Given the description of an element on the screen output the (x, y) to click on. 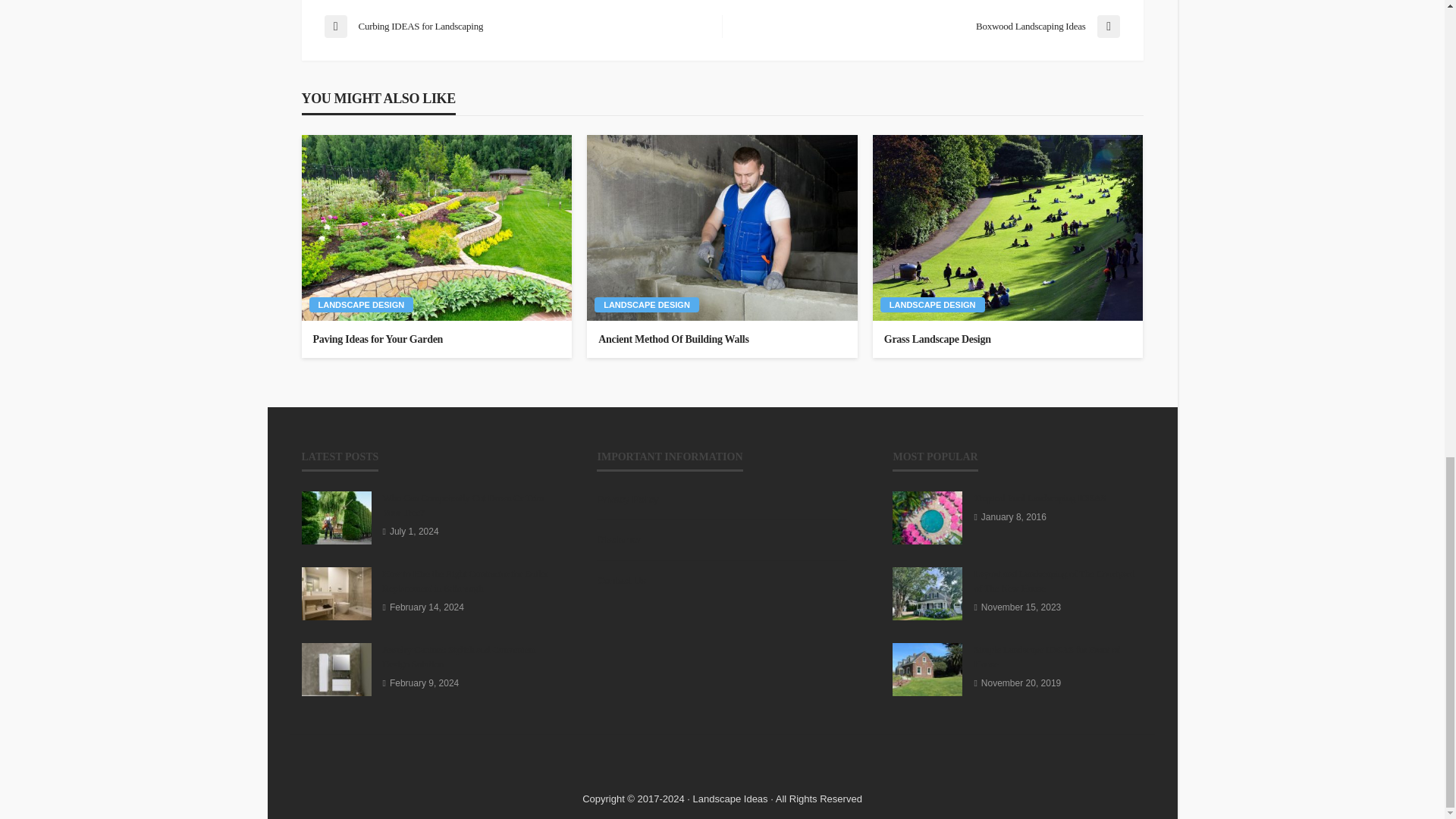
Landscape Design (360, 304)
Ancient Method Of Building Walls (721, 227)
Ancient Method Of Building Walls (721, 339)
Grass Landscape Design (1007, 227)
Landscape Design (646, 304)
Paving Ideas for Your Garden (436, 339)
Landscape Design (932, 304)
Curbing IDEAS for Landscaping (515, 26)
Boxwood Landscaping Ideas (927, 26)
Paving Ideas for Your Garden (436, 227)
